Given the description of an element on the screen output the (x, y) to click on. 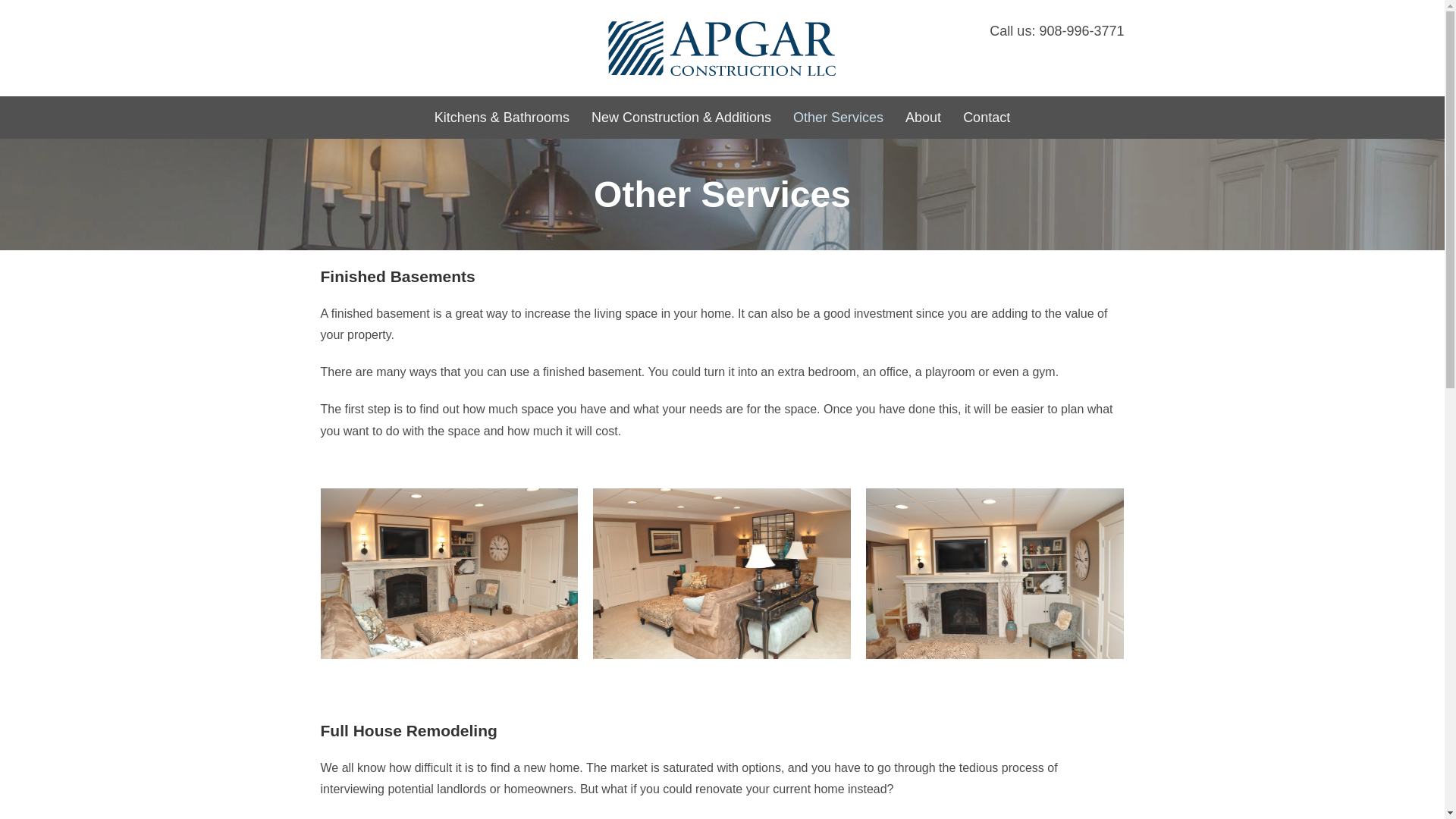
Other Services (838, 117)
RosemontBasement---04-1 (995, 574)
About (923, 117)
Contact (986, 117)
apgar-logo (722, 47)
RosemontBasement---03-1 (721, 574)
RosemontBasement---02-1 (449, 574)
